Given the description of an element on the screen output the (x, y) to click on. 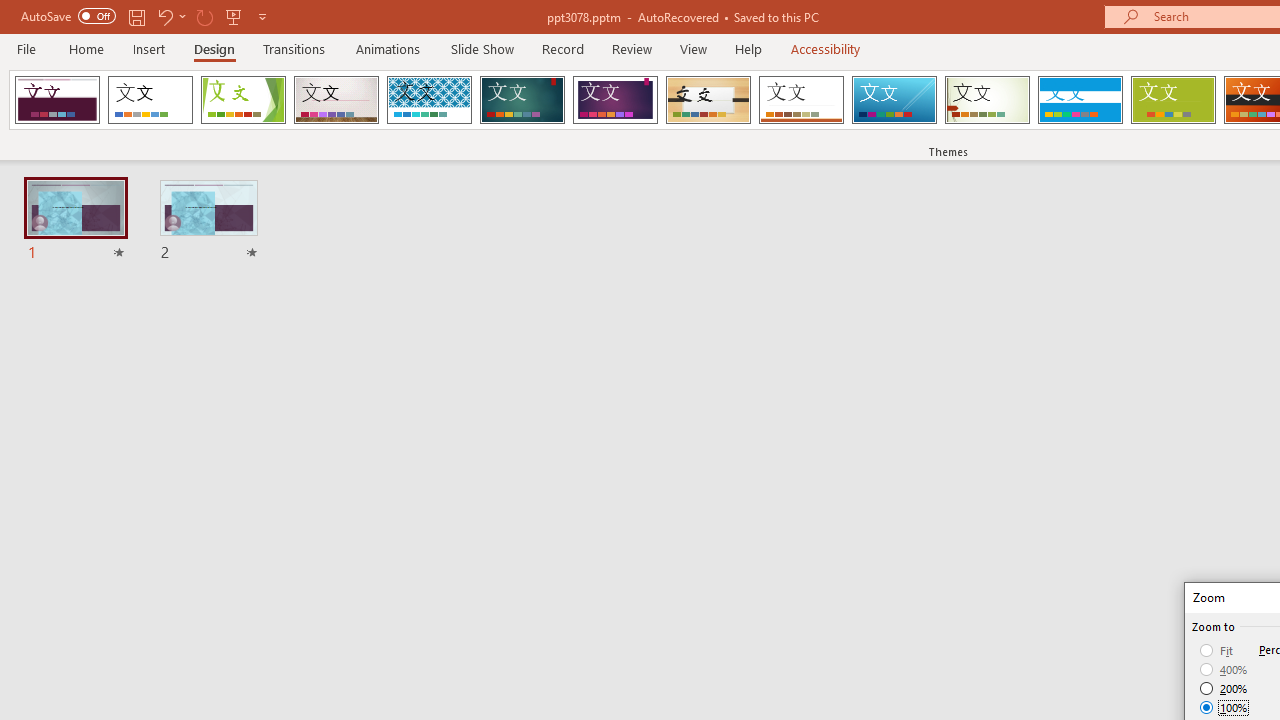
Slice (893, 100)
More Options (182, 15)
Office Theme (150, 100)
Home (86, 48)
Facet (243, 100)
Basis (1172, 100)
Save (136, 15)
Review (631, 48)
Animations (388, 48)
Ion (522, 100)
Slide (208, 221)
Help (748, 48)
